Given the description of an element on the screen output the (x, y) to click on. 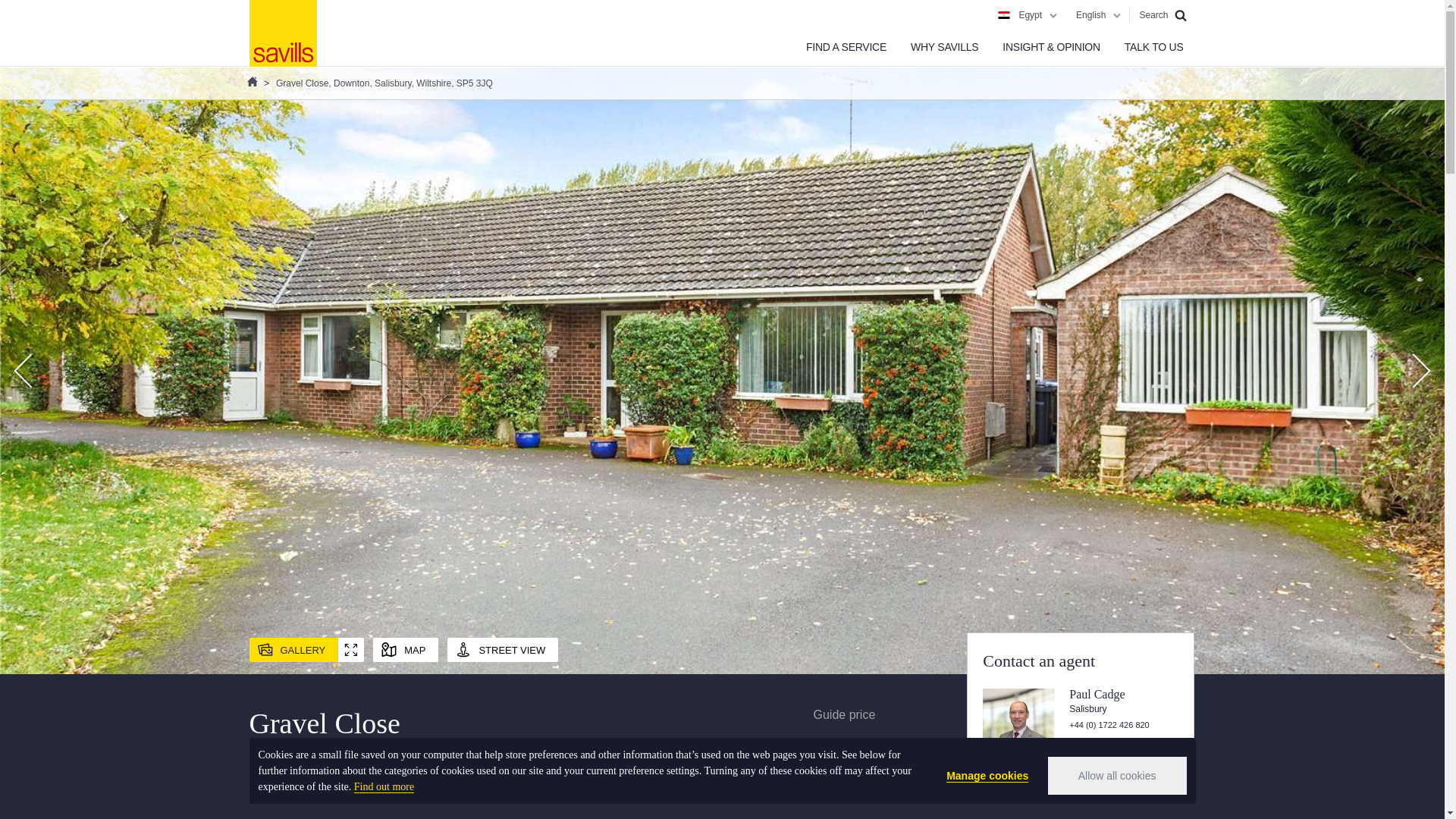
Manage cookies (986, 775)
Allow all cookies (1117, 775)
FIND A SERVICE (845, 46)
Go to homepage (281, 33)
Search (1162, 14)
Find out more (383, 787)
